Given the description of an element on the screen output the (x, y) to click on. 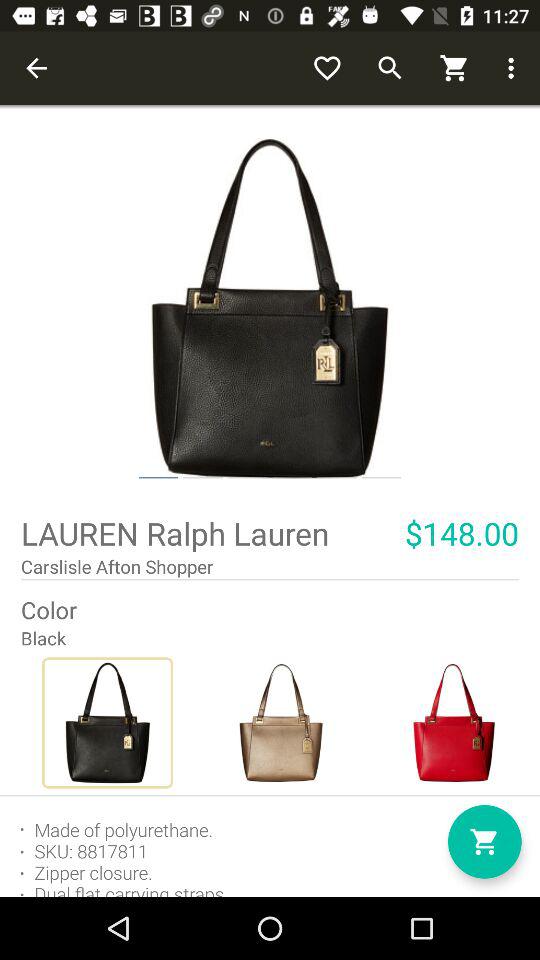
click on the shoping cart symbol which is on the right side bottom of the page (485, 842)
click last icon which is at the top right of the page (514, 68)
